Given the description of an element on the screen output the (x, y) to click on. 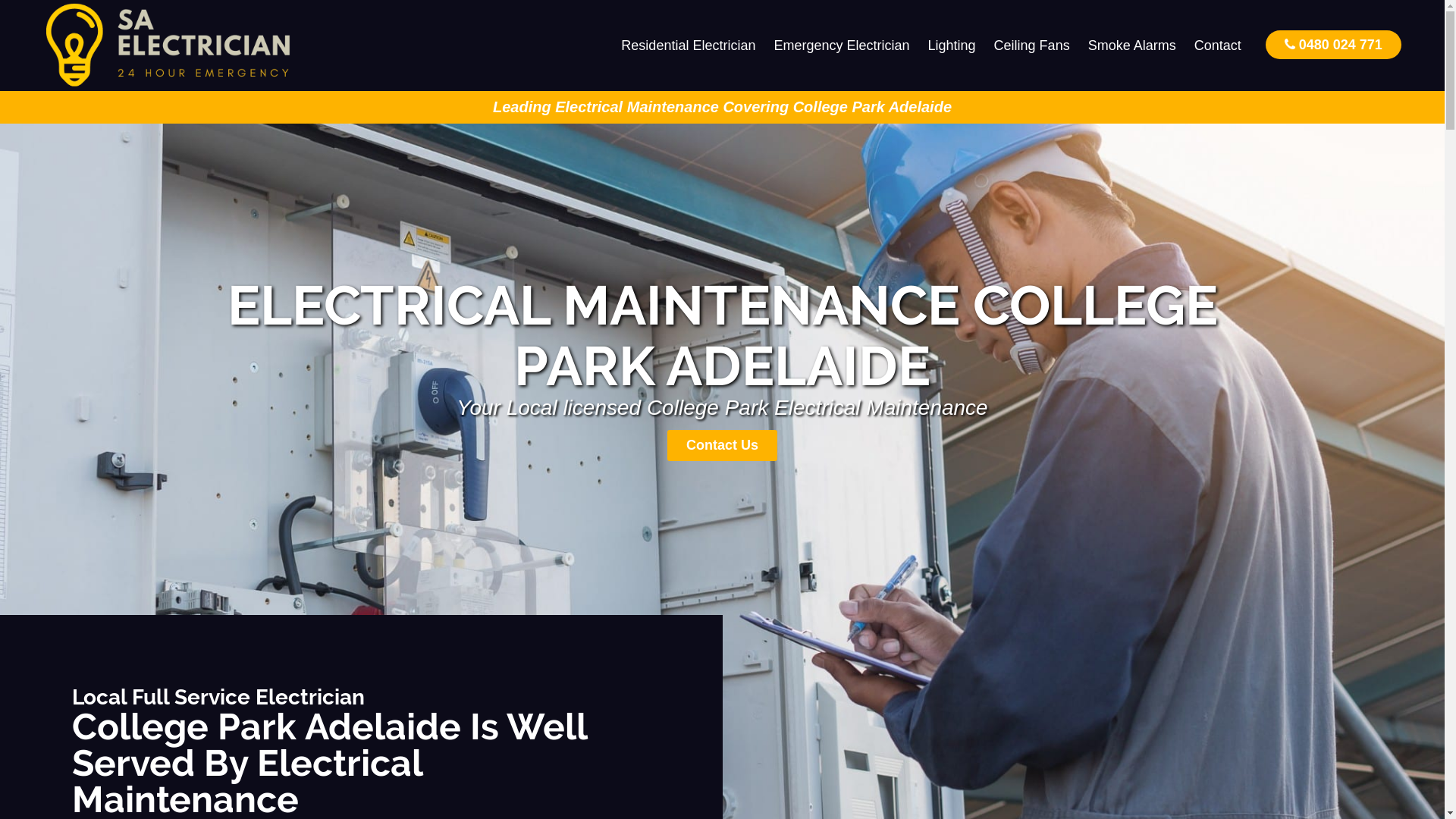
Contact Us Element type: text (722, 445)
Smoke Alarms Element type: text (1132, 45)
Emergency Electrician Element type: text (841, 45)
Contact Element type: text (1217, 45)
0480 024 771 Element type: text (1333, 44)
Ceiling Fans Element type: text (1032, 45)
Residential Electrician Element type: text (687, 45)
Lighting Element type: text (952, 45)
